Given the description of an element on the screen output the (x, y) to click on. 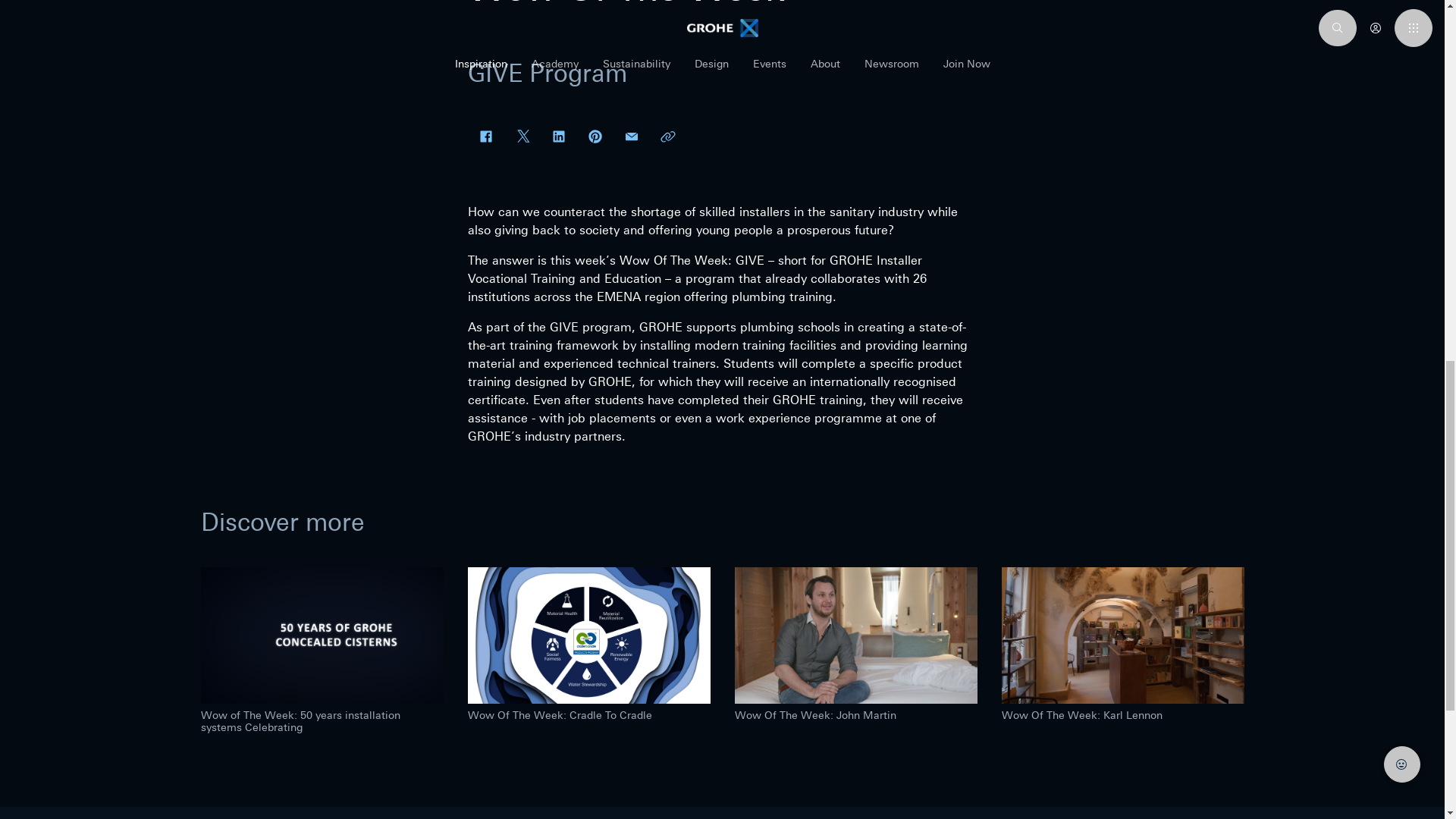
WOW Karl Lennon (1122, 635)
WOW First Installation Systems (321, 635)
WOW John Martin (854, 635)
WOW C2C (588, 635)
